Given the description of an element on the screen output the (x, y) to click on. 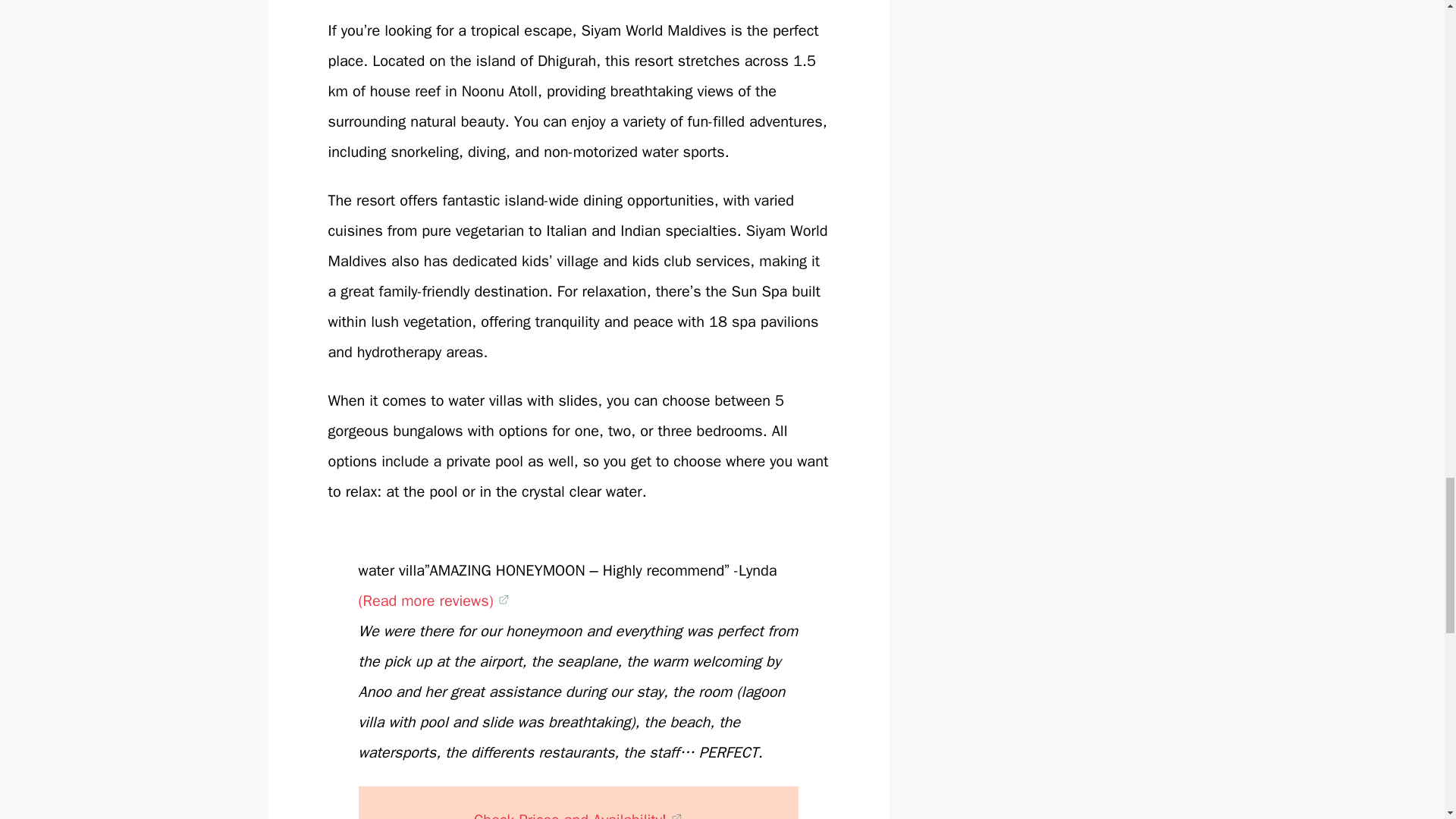
Siyam world maldives water villas slide maldives booking (433, 600)
Siyam world maldives water villas slide maldives agoda (578, 814)
Link goes to external site. (675, 814)
Check Prices and Availability! (578, 814)
